Given the description of an element on the screen output the (x, y) to click on. 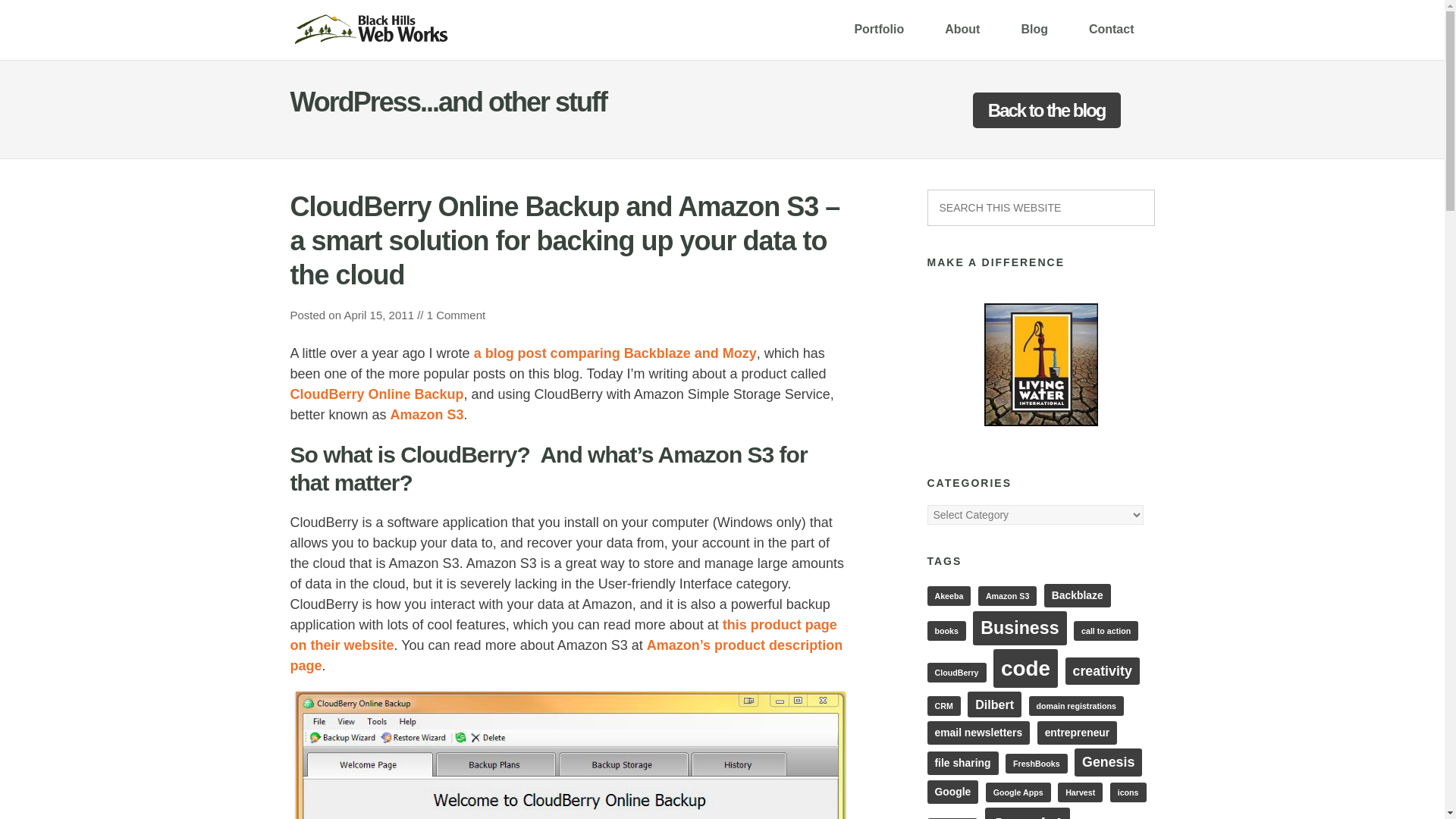
Portfolio (878, 29)
Dilbert (995, 704)
About (962, 29)
a blog post comparing Backblaze and Mozy (615, 353)
Black Hills Web Works (369, 28)
1 Comment (456, 314)
books (945, 630)
this product page on their website (562, 634)
CRM (942, 705)
call to action (1106, 630)
CloudBerry Online Backup (376, 394)
Amazon S3 (427, 414)
CloudBerry (955, 672)
Contact (1111, 29)
code (1025, 668)
